Given the description of an element on the screen output the (x, y) to click on. 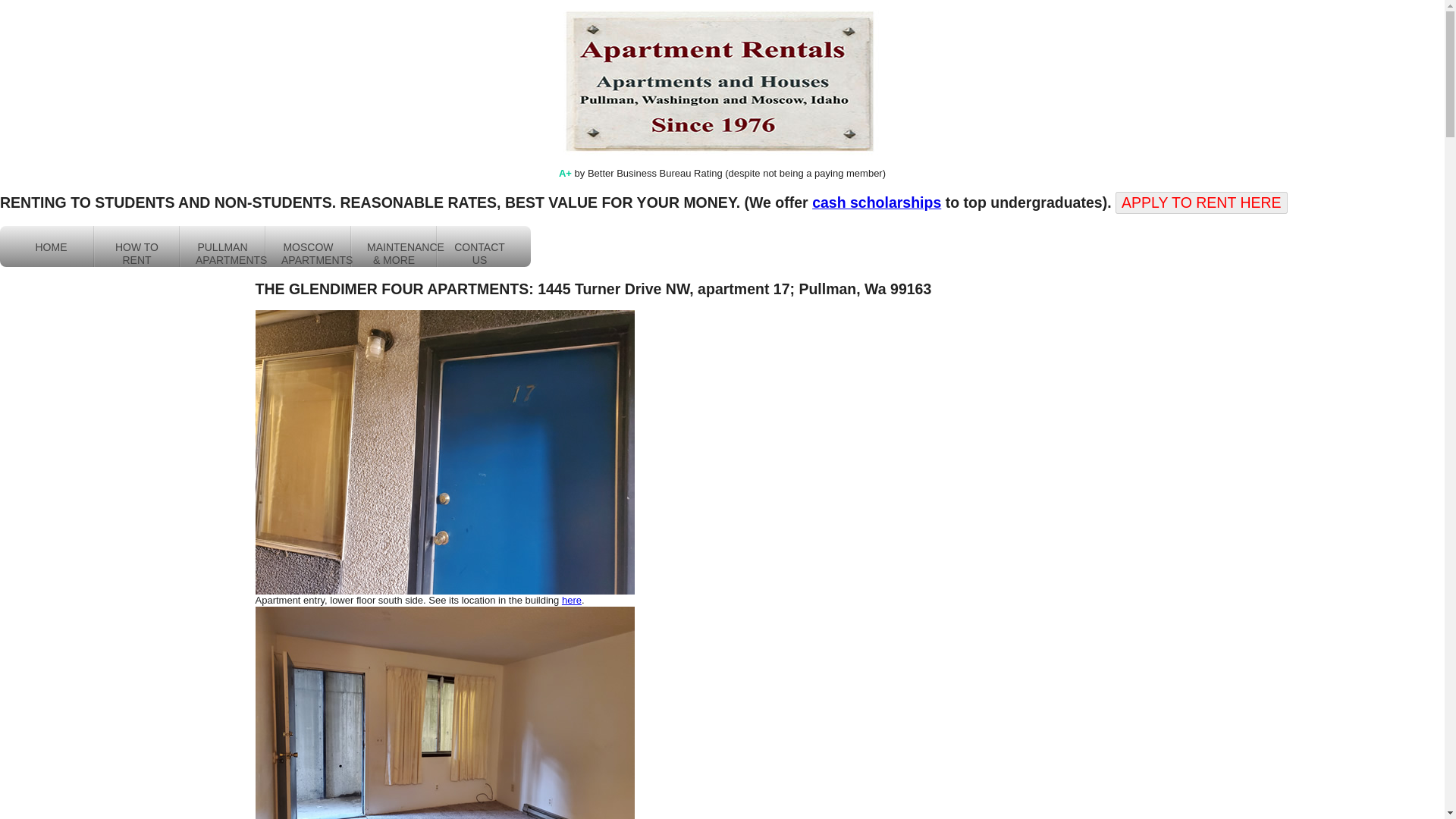
HOW TO RENT (136, 246)
HOME (51, 246)
CONTACT US (478, 246)
cash scholarships (876, 202)
APPLY TO RENT HERE (1201, 202)
APPLY TO RENT HERE (1201, 202)
MOSCOW APARTMENTS (307, 246)
PULLMAN APARTMENTS (221, 246)
